Given the description of an element on the screen output the (x, y) to click on. 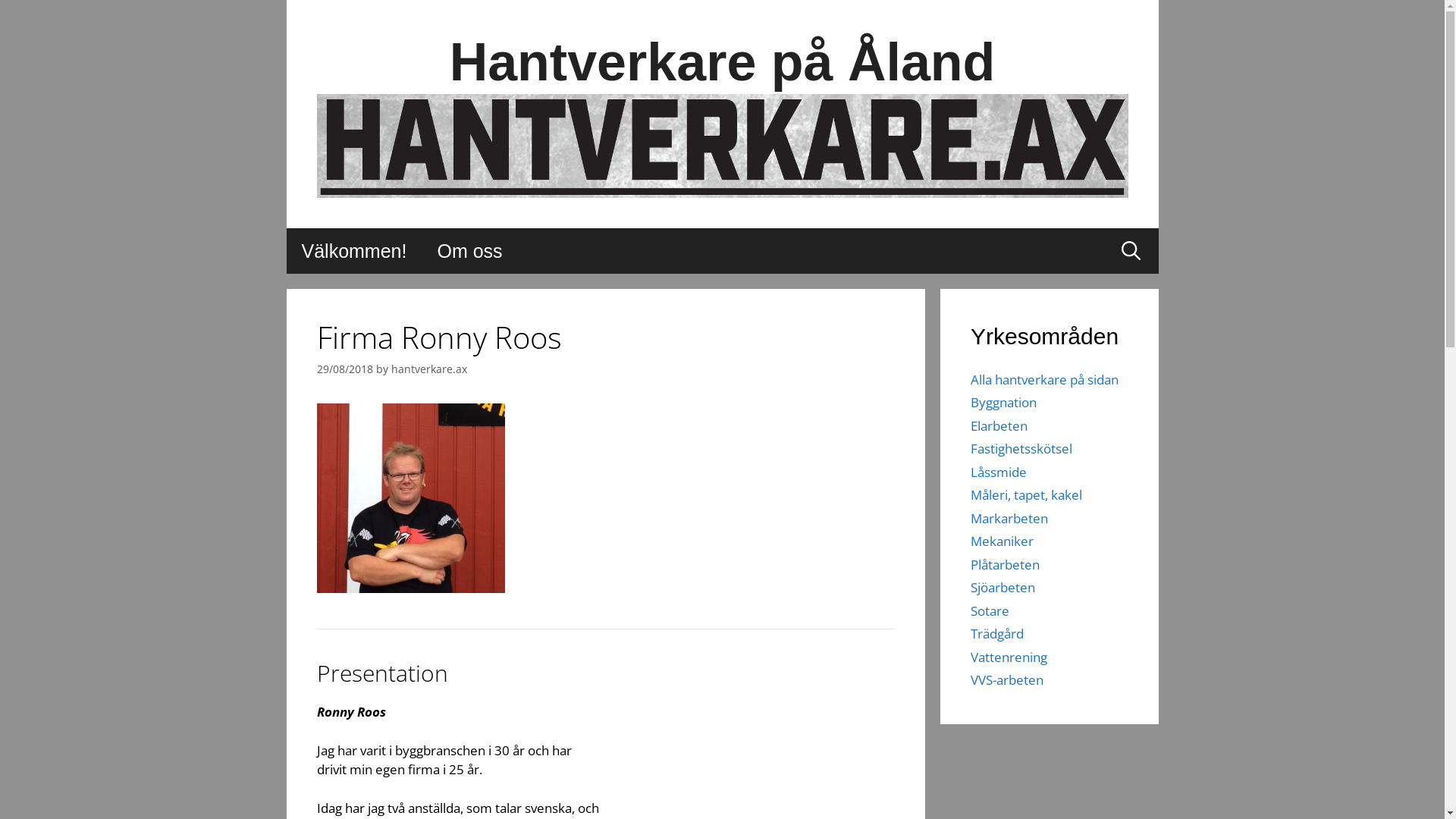
VVS-arbeten Element type: text (1006, 679)
Vattenrening Element type: text (1008, 656)
Elarbeten Element type: text (998, 425)
Byggnation Element type: text (1003, 402)
hantverkare.ax Element type: text (429, 368)
Markarbeten Element type: text (1009, 518)
Om oss Element type: text (469, 250)
Sotare Element type: text (989, 610)
Mekaniker Element type: text (1001, 540)
